Given the description of an element on the screen output the (x, y) to click on. 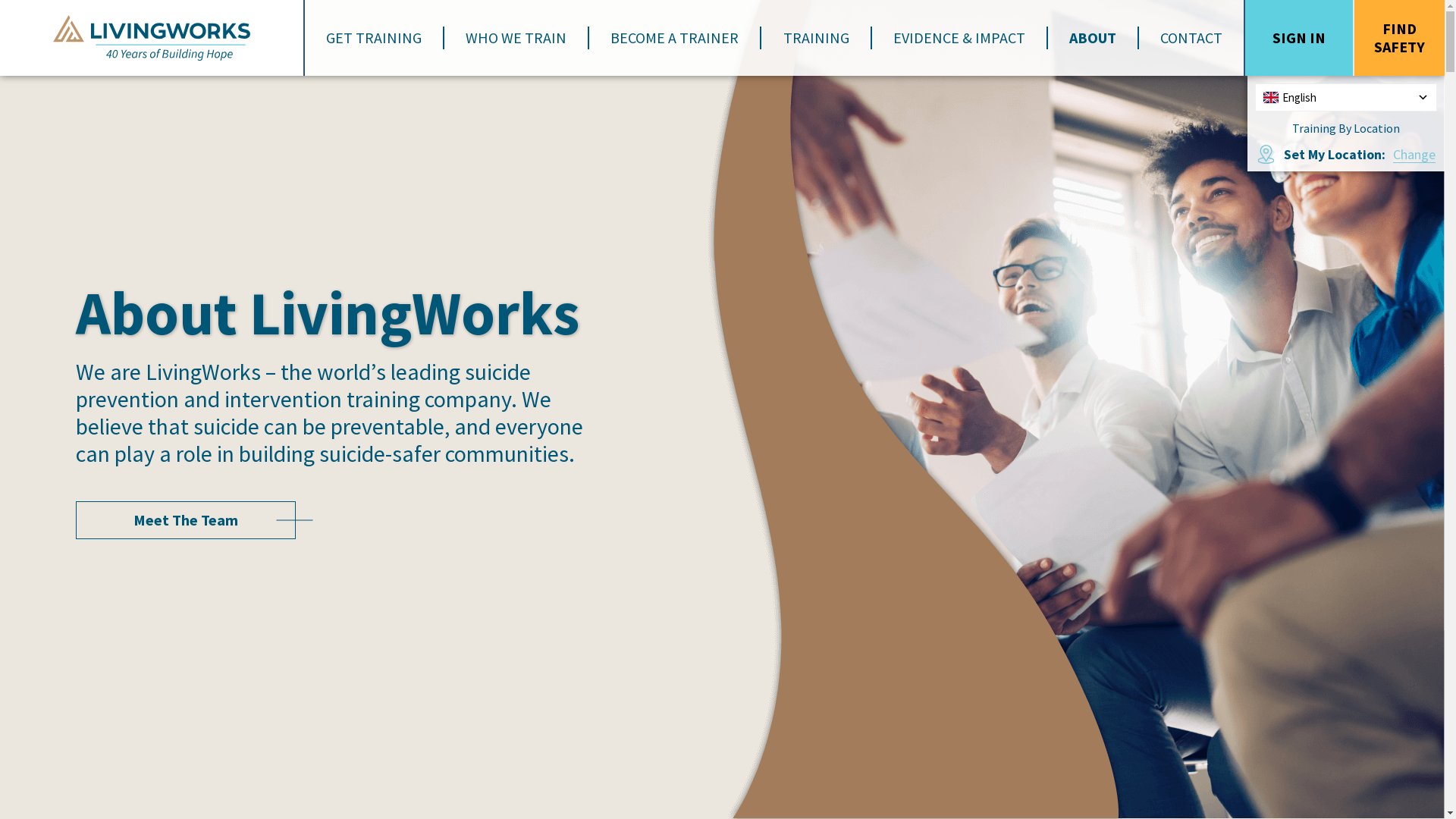
WHO WE TRAIN Element type: text (515, 37)
BECOME A TRAINER Element type: text (674, 37)
FIND
SAFETY Element type: text (1399, 37)
GET TRAINING Element type: text (373, 37)
Change Element type: text (1414, 154)
ABOUT Element type: text (1092, 37)
CONTACT Element type: text (1190, 37)
EVIDENCE & IMPACT Element type: text (959, 37)
Meet The Team Element type: text (185, 520)
TRAINING Element type: text (815, 37)
SIGN IN Element type: text (1298, 37)
